Given the description of an element on the screen output the (x, y) to click on. 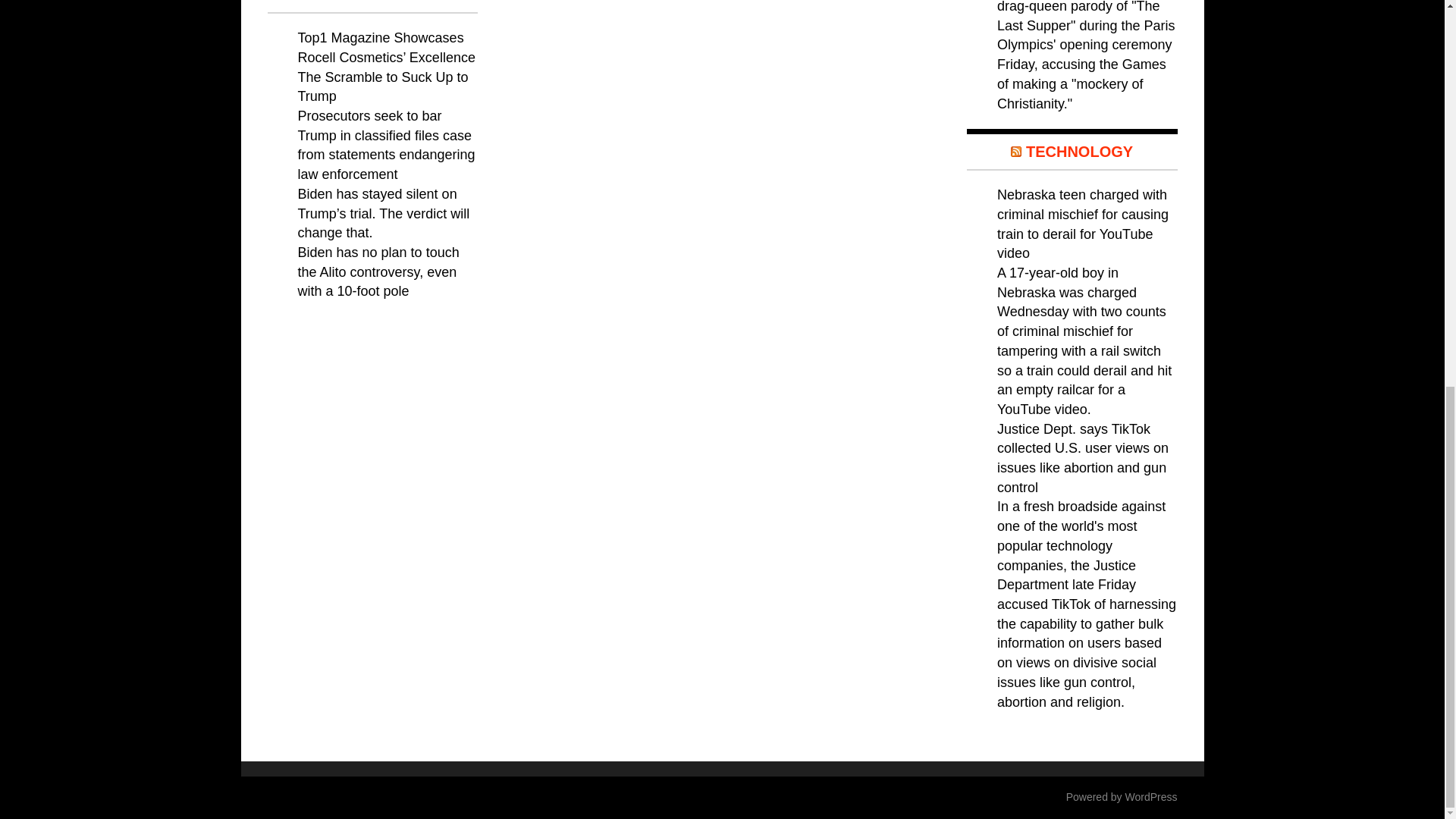
The Scramble to Suck Up to Trump (382, 86)
WordPress (1151, 797)
TECHNOLOGY (1079, 151)
